Given the description of an element on the screen output the (x, y) to click on. 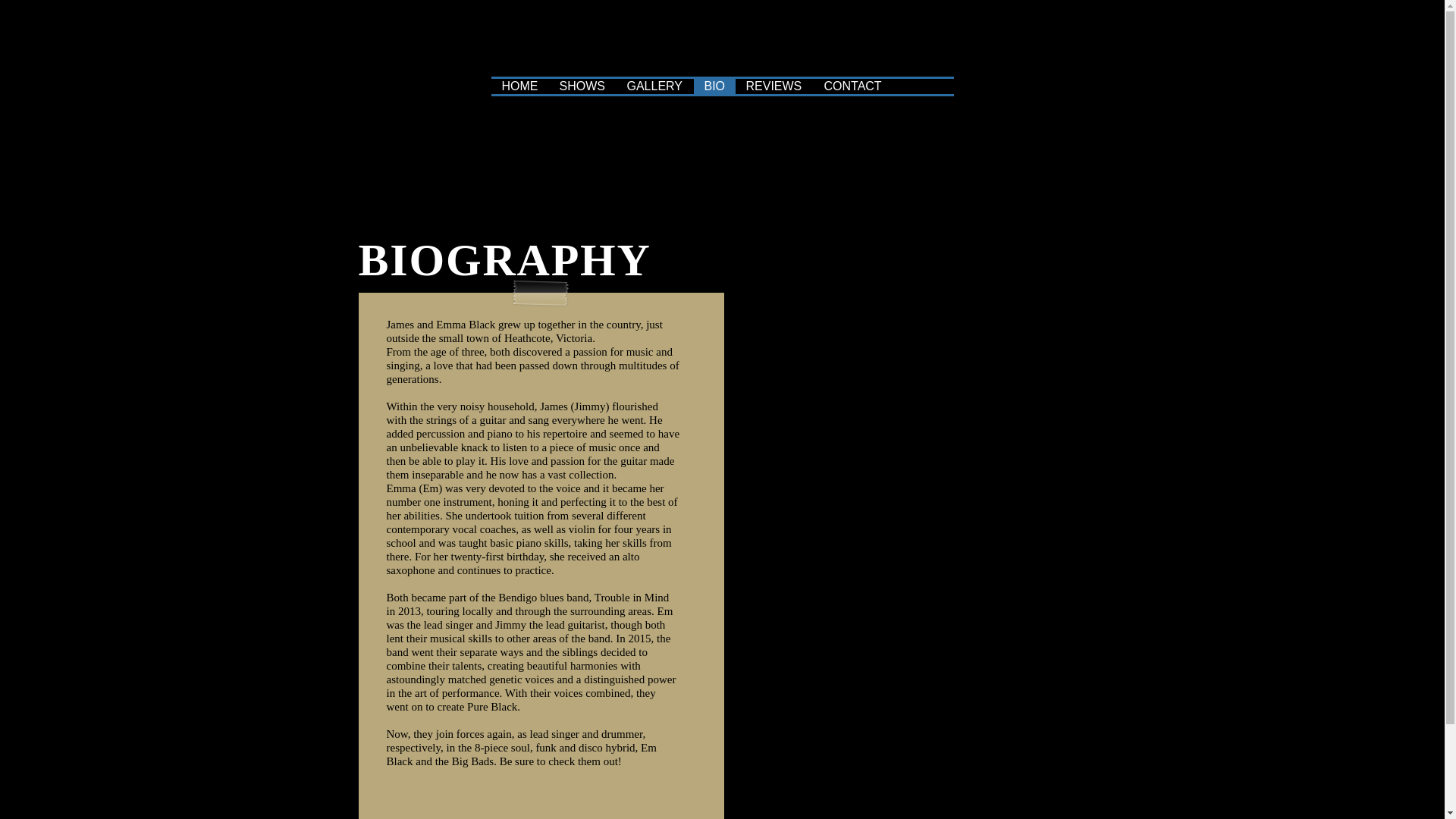
REVIEWS (774, 86)
GALLERY (654, 86)
SHOWS (581, 86)
CONTACT (852, 86)
HOME (520, 86)
BIO (714, 86)
